Given the description of an element on the screen output the (x, y) to click on. 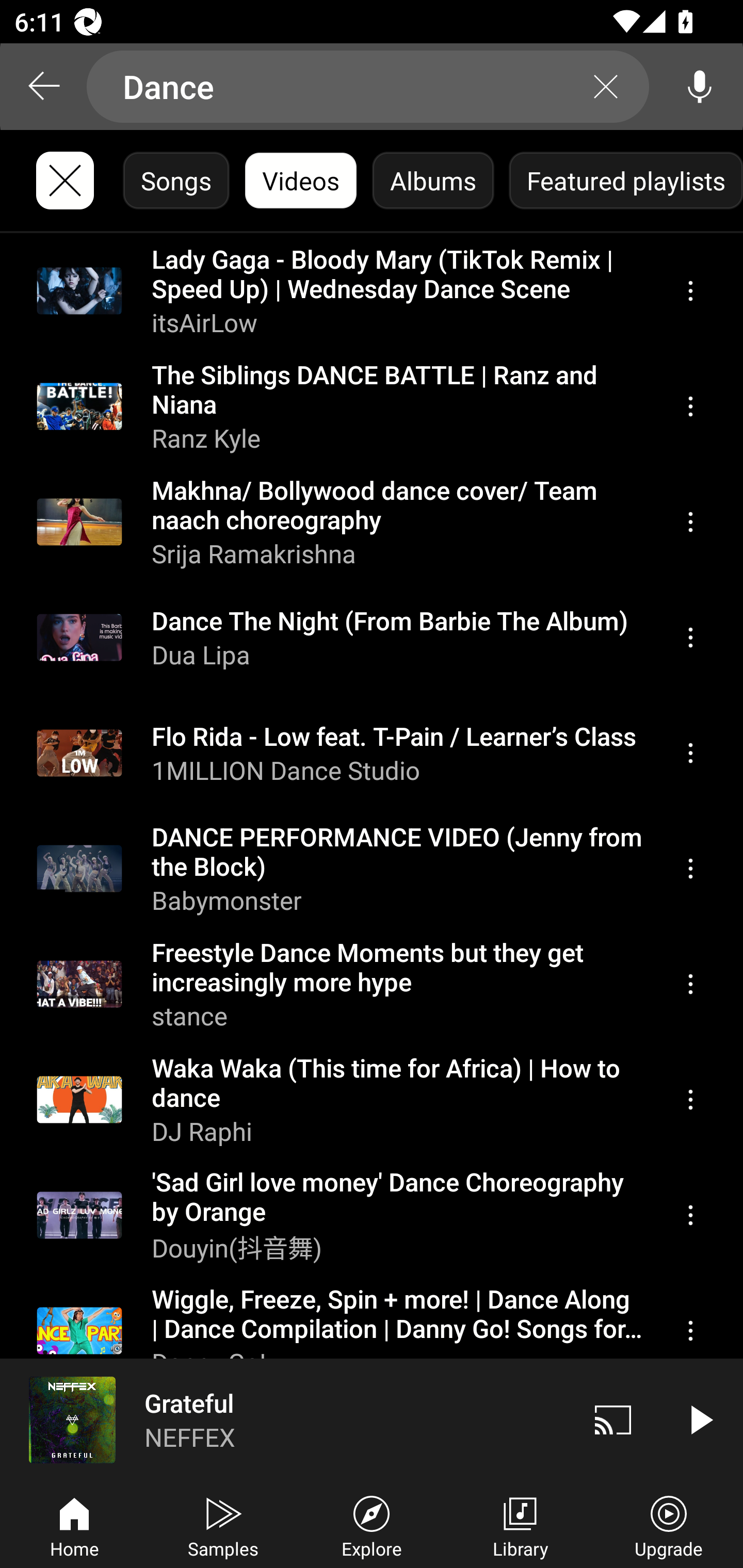
Search back (43, 86)
Dance (367, 86)
Clear search (605, 86)
Voice search (699, 86)
Clear filters (64, 181)
Videos (300, 181)
Menu (690, 290)
Menu (690, 406)
Menu (690, 522)
Menu (690, 638)
Menu (690, 752)
Menu (690, 868)
Menu (690, 984)
Menu (690, 1099)
Menu (690, 1215)
Menu (690, 1331)
Grateful NEFFEX (284, 1419)
Cast. Disconnected (612, 1419)
Play video (699, 1419)
Home (74, 1524)
Samples (222, 1524)
Explore (371, 1524)
Library (519, 1524)
Upgrade (668, 1524)
